Given the description of an element on the screen output the (x, y) to click on. 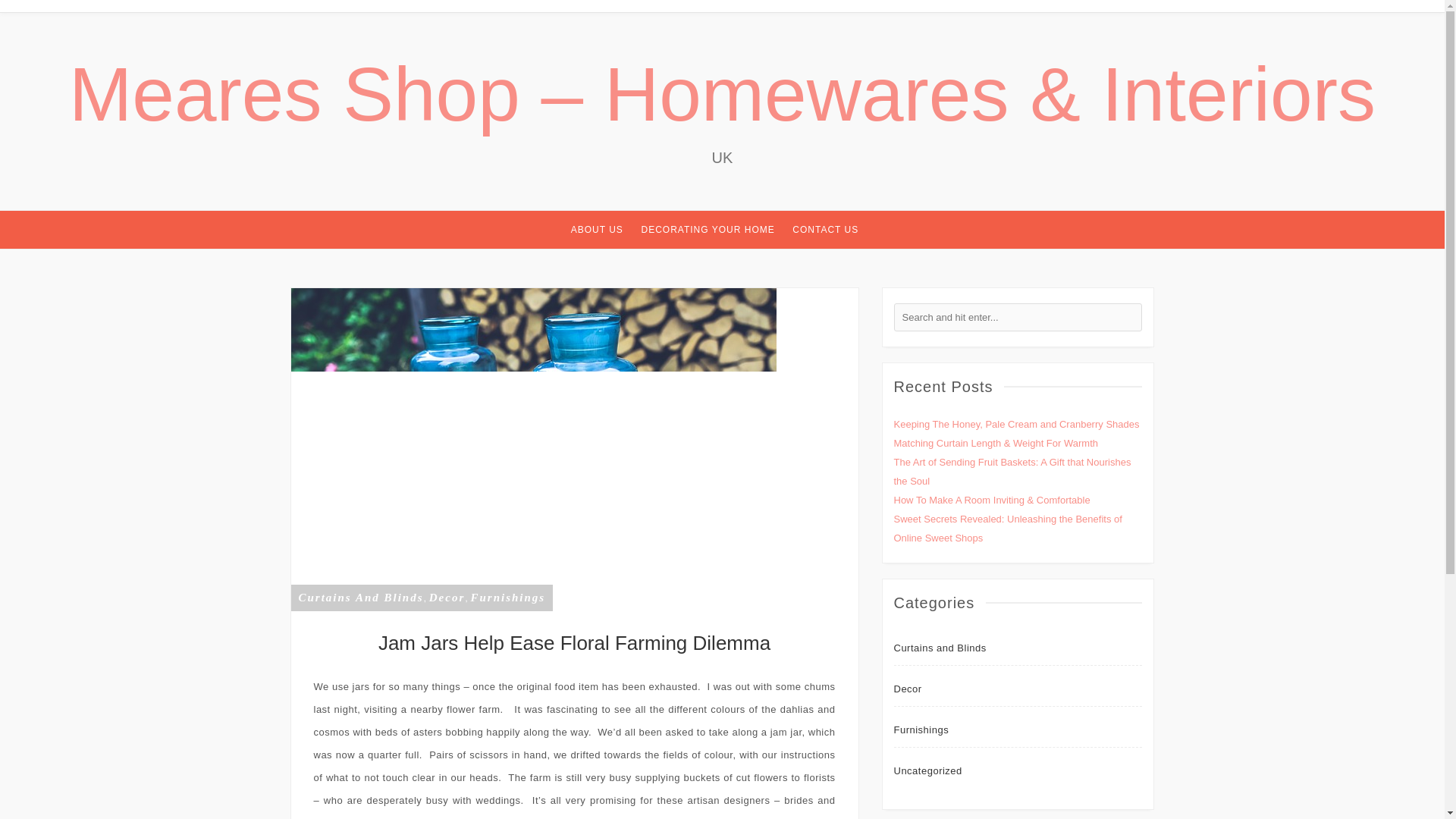
About Us (596, 229)
Decor (447, 597)
Furnishings (921, 729)
Uncategorized (926, 770)
Contact Us (825, 229)
Jam Jars Help Ease Floral Farming Dilemma (533, 448)
Furnishings (507, 597)
Decorating Your Home (707, 229)
CONTACT US (825, 229)
